Given the description of an element on the screen output the (x, y) to click on. 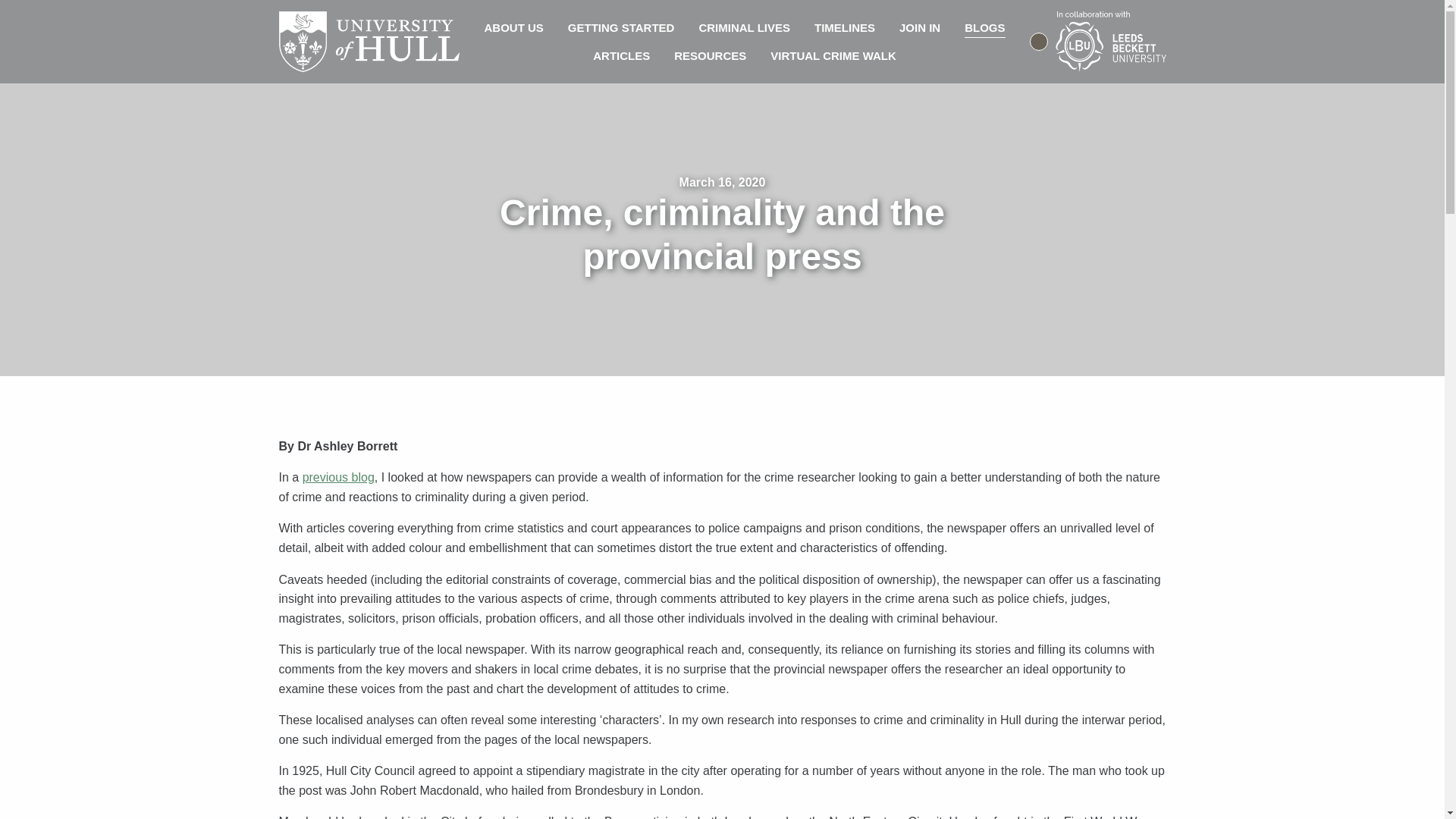
VIRTUAL CRIME WALK (833, 55)
ARTICLES (621, 55)
CRIMINAL LIVES (743, 27)
GETTING STARTED (621, 27)
TIMELINES (844, 27)
JOIN IN (919, 27)
BLOGS (984, 27)
previous blog (338, 477)
RESOURCES (710, 55)
ABOUT US (513, 27)
